Given the description of an element on the screen output the (x, y) to click on. 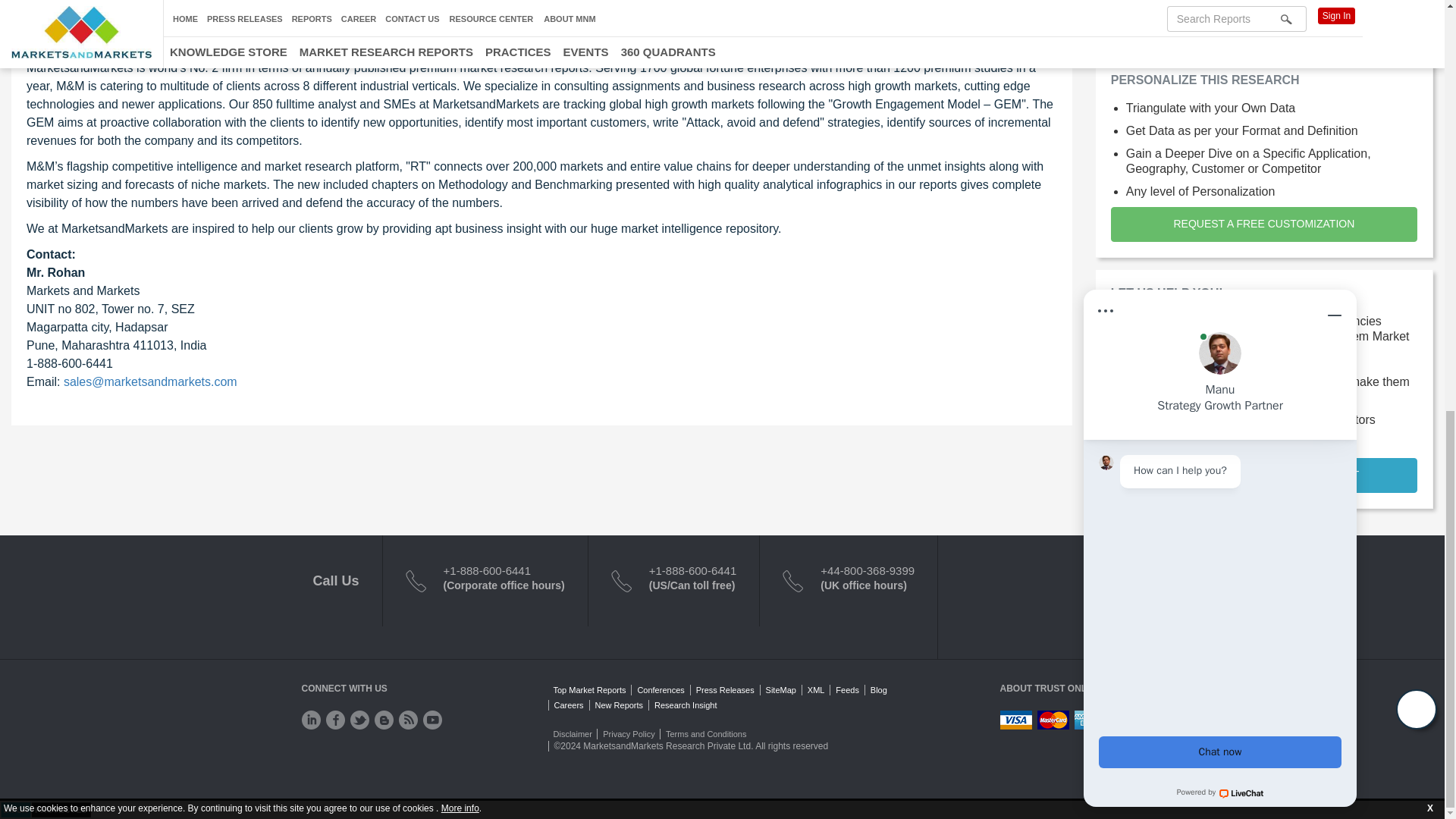
REQUEST A FREE CUSTOMIZATION (1263, 224)
CUSTOMIZED WORKSHOP REQUEST (1263, 475)
